Given the description of an element on the screen output the (x, y) to click on. 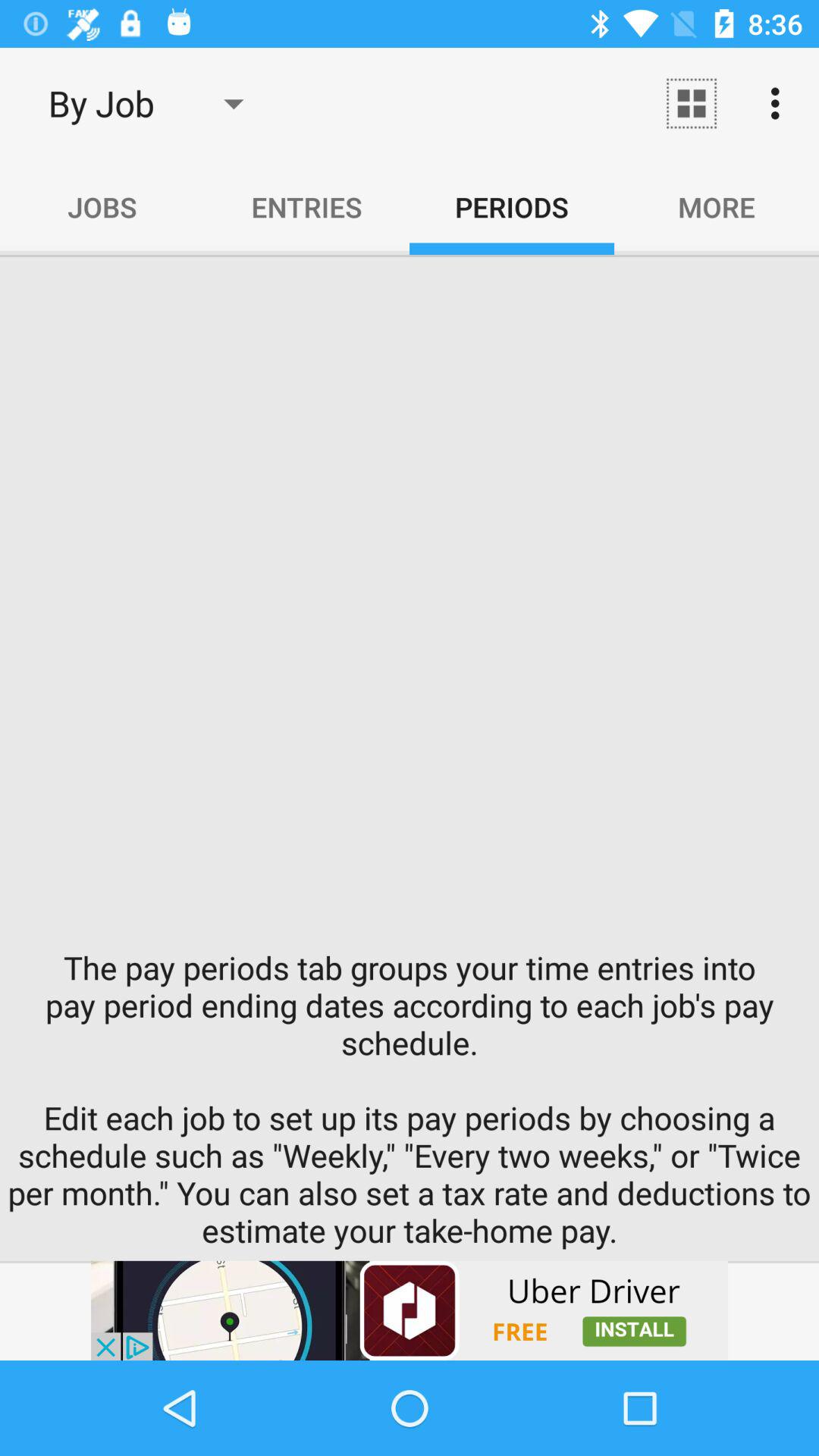
view advertisement (409, 1310)
